Given the description of an element on the screen output the (x, y) to click on. 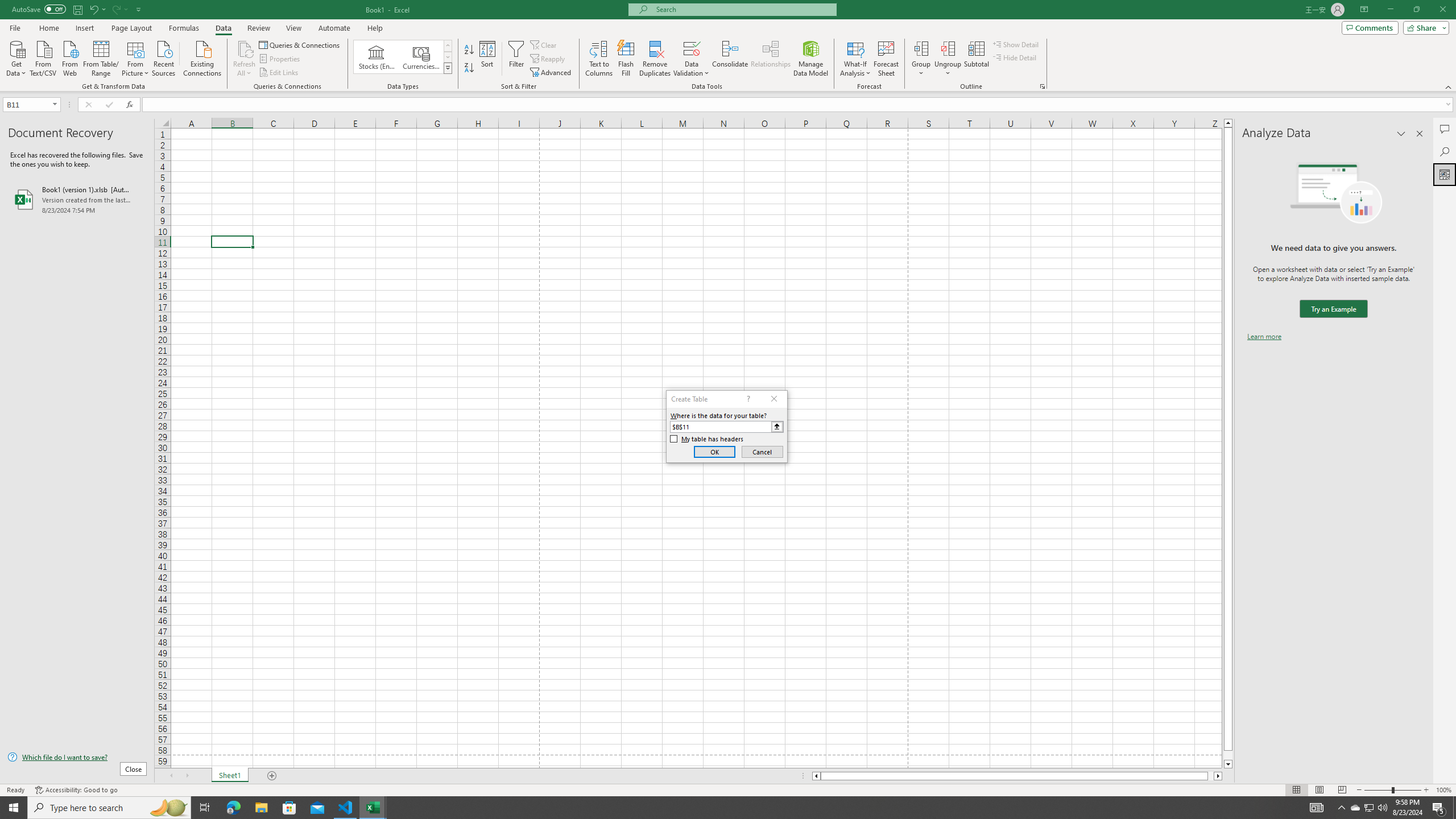
Show Detail (1016, 44)
We need data to give you answers. Try an Example (1333, 308)
Relationships (770, 58)
Advanced... (551, 72)
Analyze Data (1444, 173)
